Given the description of an element on the screen output the (x, y) to click on. 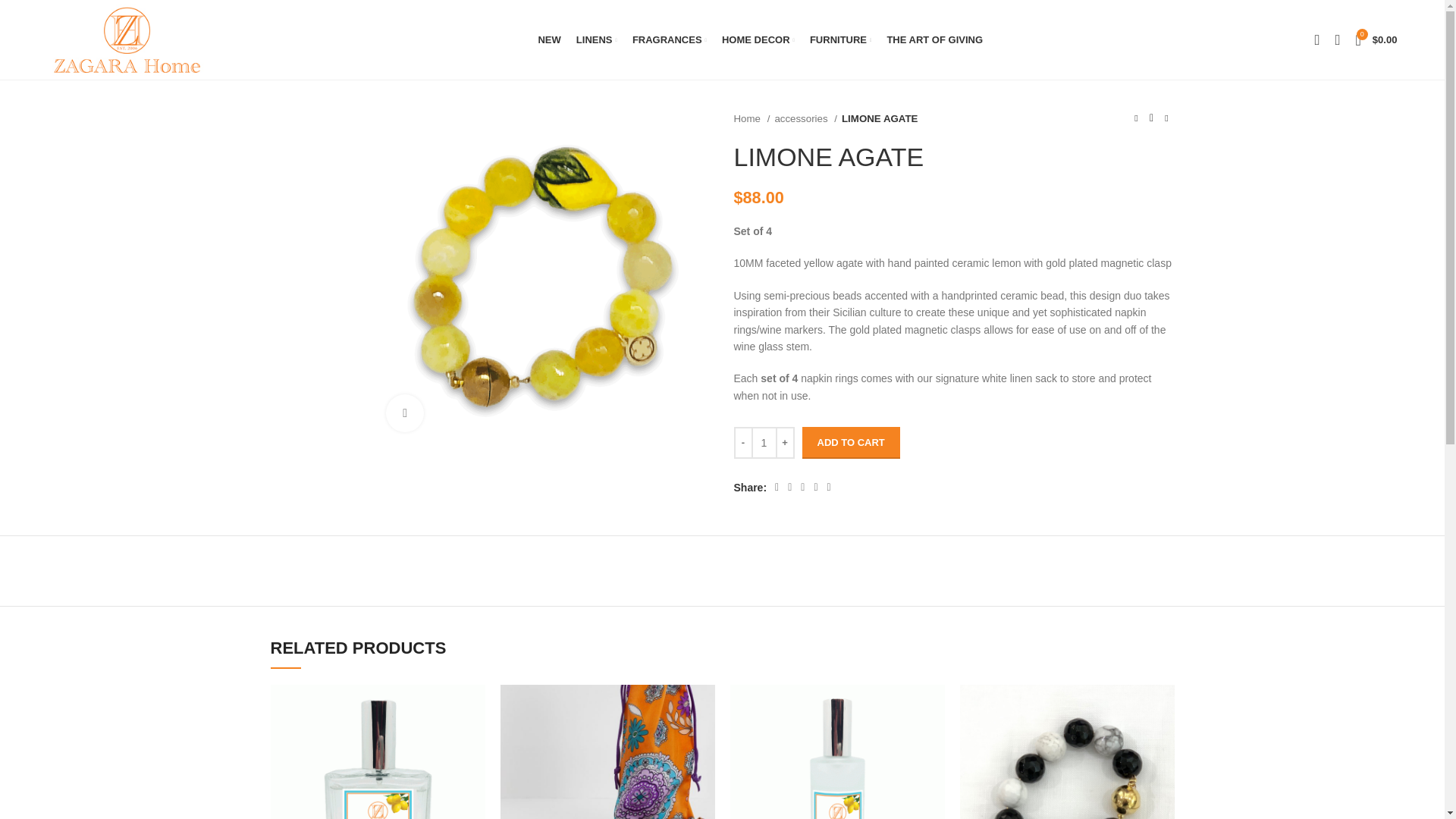
LINENS (596, 39)
NEW (548, 39)
Page 13 (953, 313)
Page 14 (953, 387)
HOME DECOR (758, 39)
Log in (1194, 278)
FURNITURE (840, 39)
Shopping cart (1376, 39)
FRAGRANCES (669, 39)
THE ART OF GIVING (934, 39)
